Given the description of an element on the screen output the (x, y) to click on. 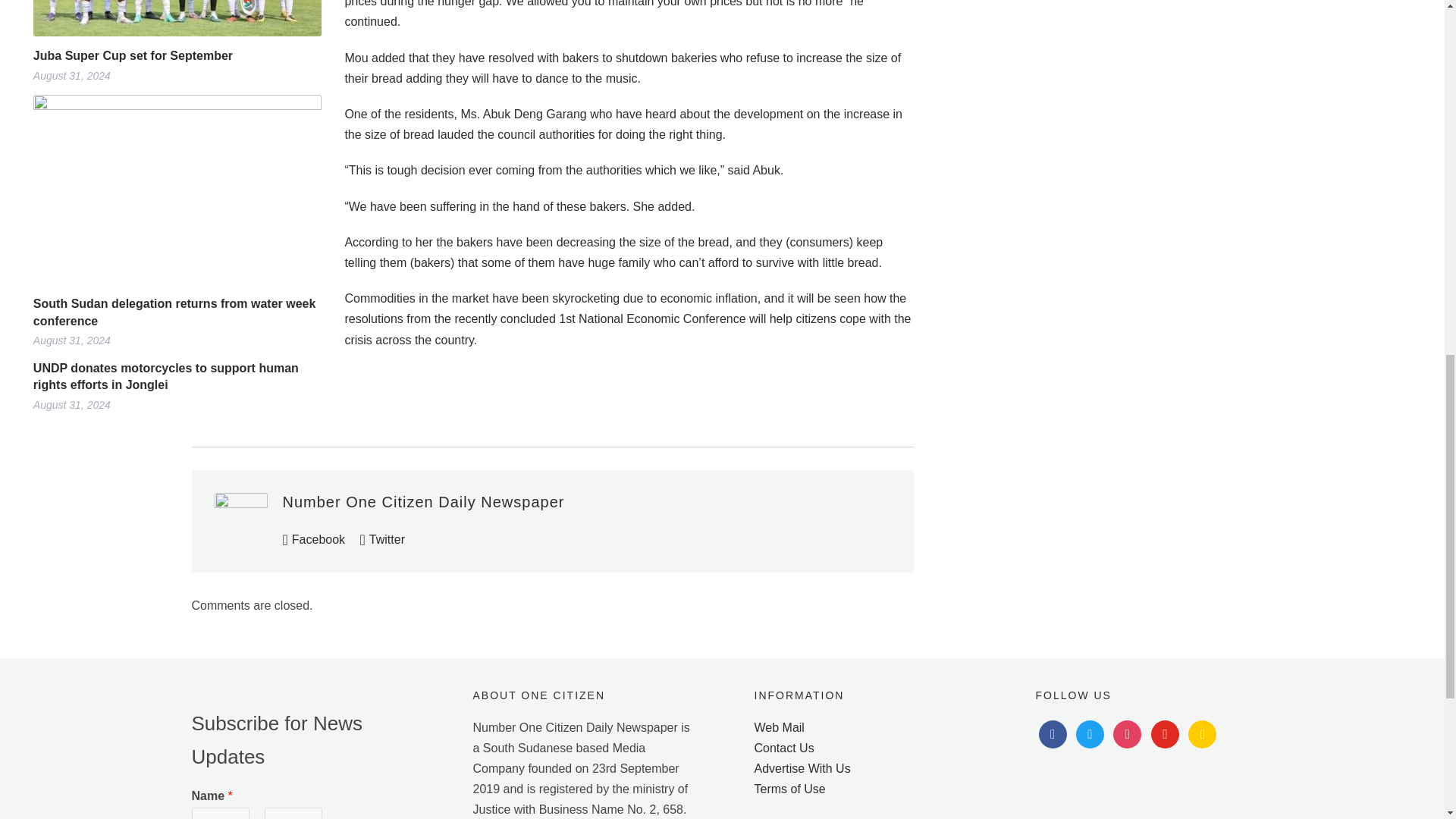
Permalink to Juba Super Cup set for September (177, 18)
Permalink to Juba Super Cup set for September (177, 55)
